Given the description of an element on the screen output the (x, y) to click on. 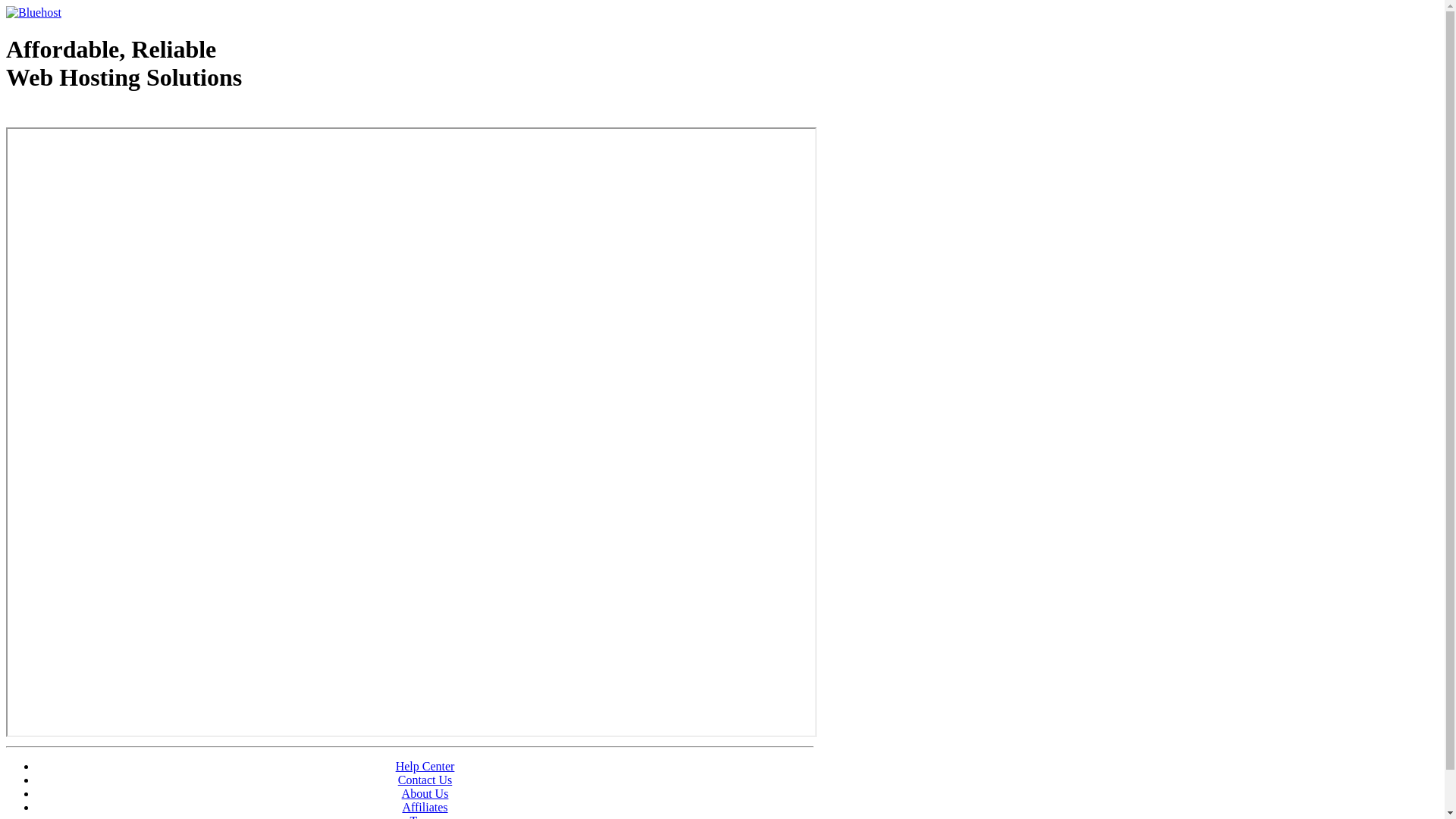
About Us Element type: text (424, 793)
Affiliates Element type: text (424, 806)
Web Hosting - courtesy of www.bluehost.com Element type: text (94, 115)
Contact Us Element type: text (425, 779)
Help Center Element type: text (425, 765)
